Given the description of an element on the screen output the (x, y) to click on. 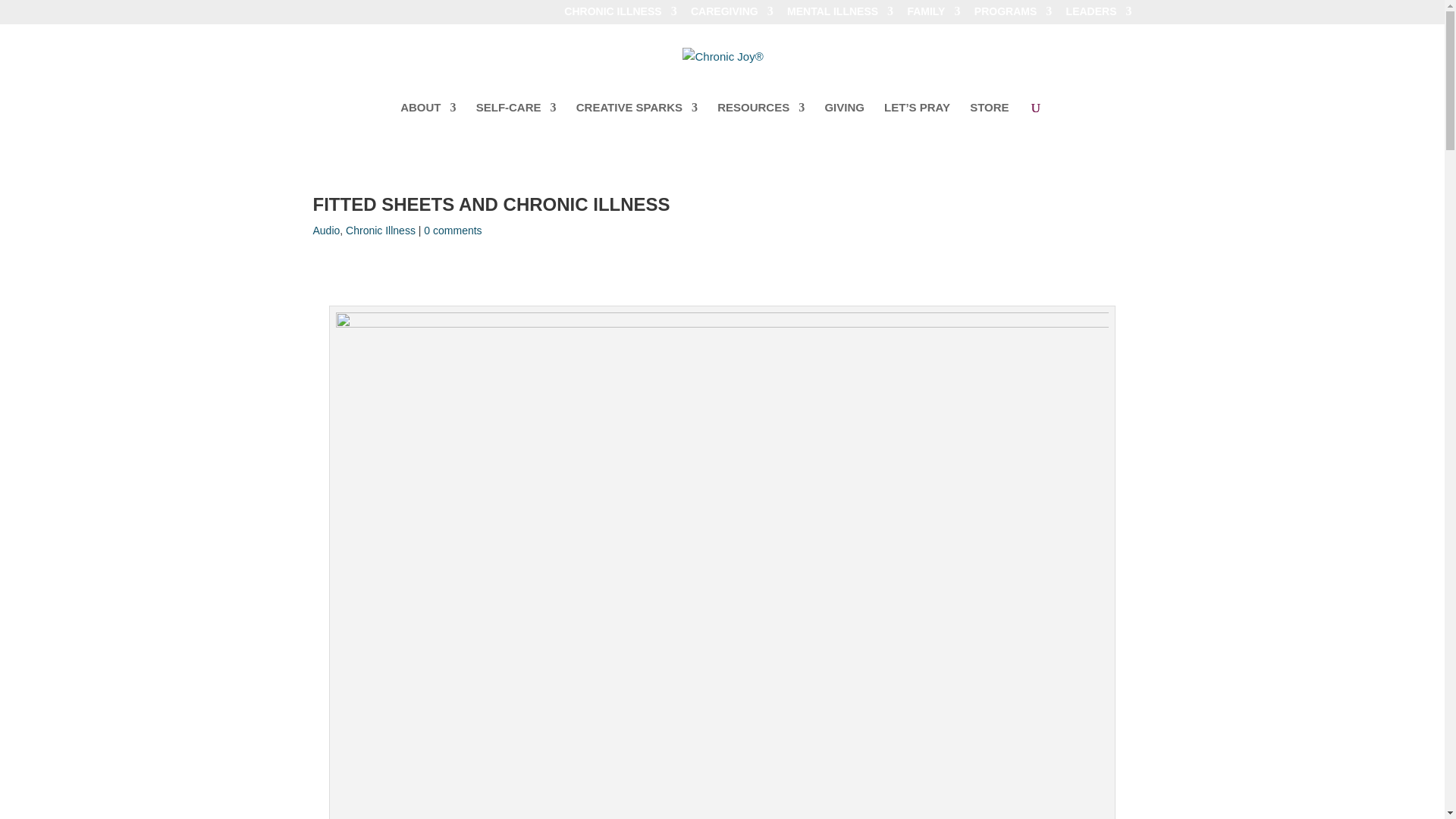
ABOUT (427, 118)
MENTAL ILLNESS (840, 15)
CHRONIC ILLNESS (620, 15)
LEADERS (1098, 15)
CAREGIVING (731, 15)
PROGRAMS (1012, 15)
FAMILY (933, 15)
